Given the description of an element on the screen output the (x, y) to click on. 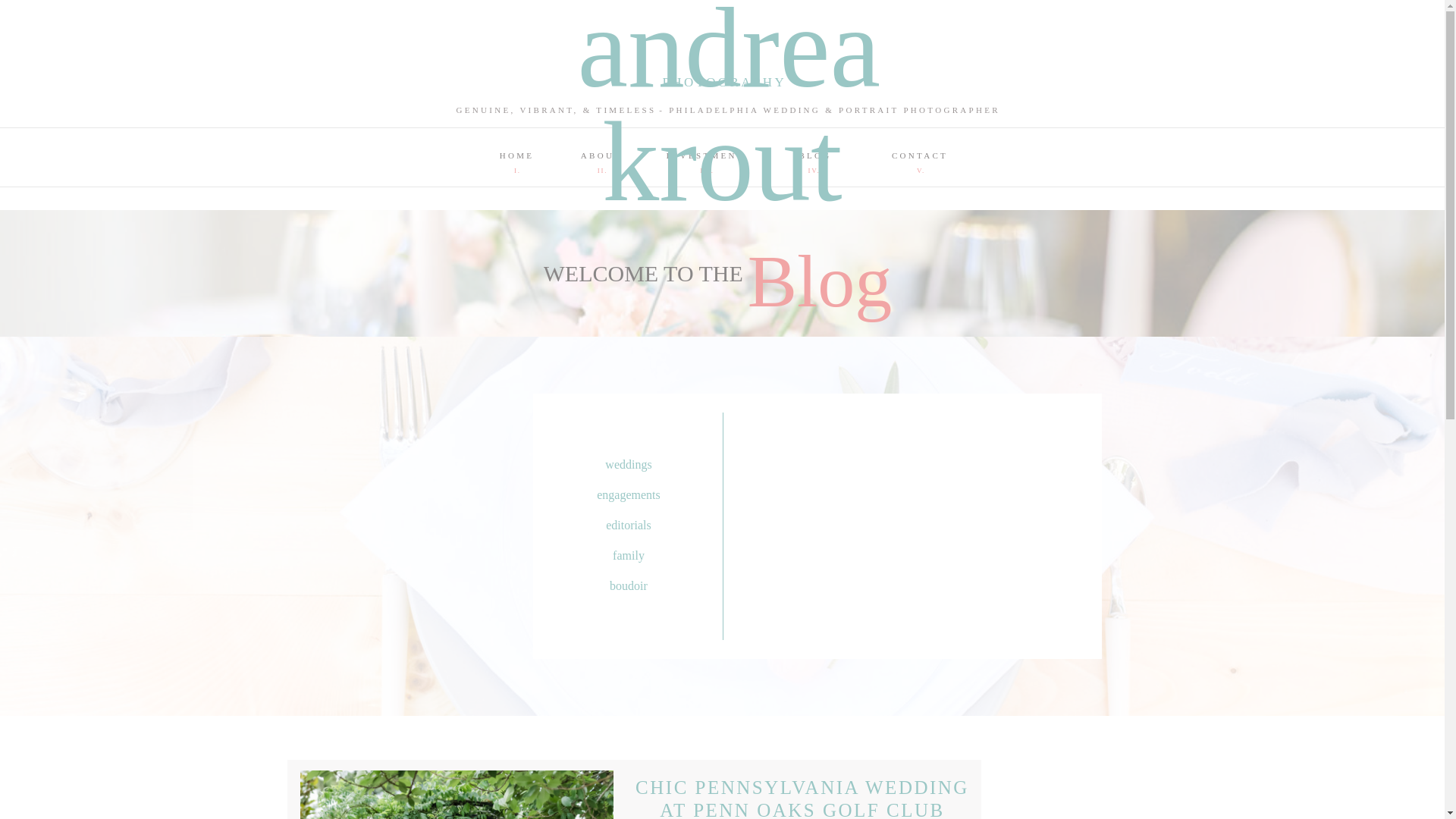
CONTACT (919, 153)
PHOTOGRAPHY (722, 82)
HOME (515, 153)
BLOG (815, 153)
editorials (627, 526)
ABOUT (600, 153)
boudoir (627, 586)
engagements (627, 495)
family (627, 556)
weddings (627, 465)
andrea krout (722, 25)
INVESTMENT (704, 153)
